Given the description of an element on the screen output the (x, y) to click on. 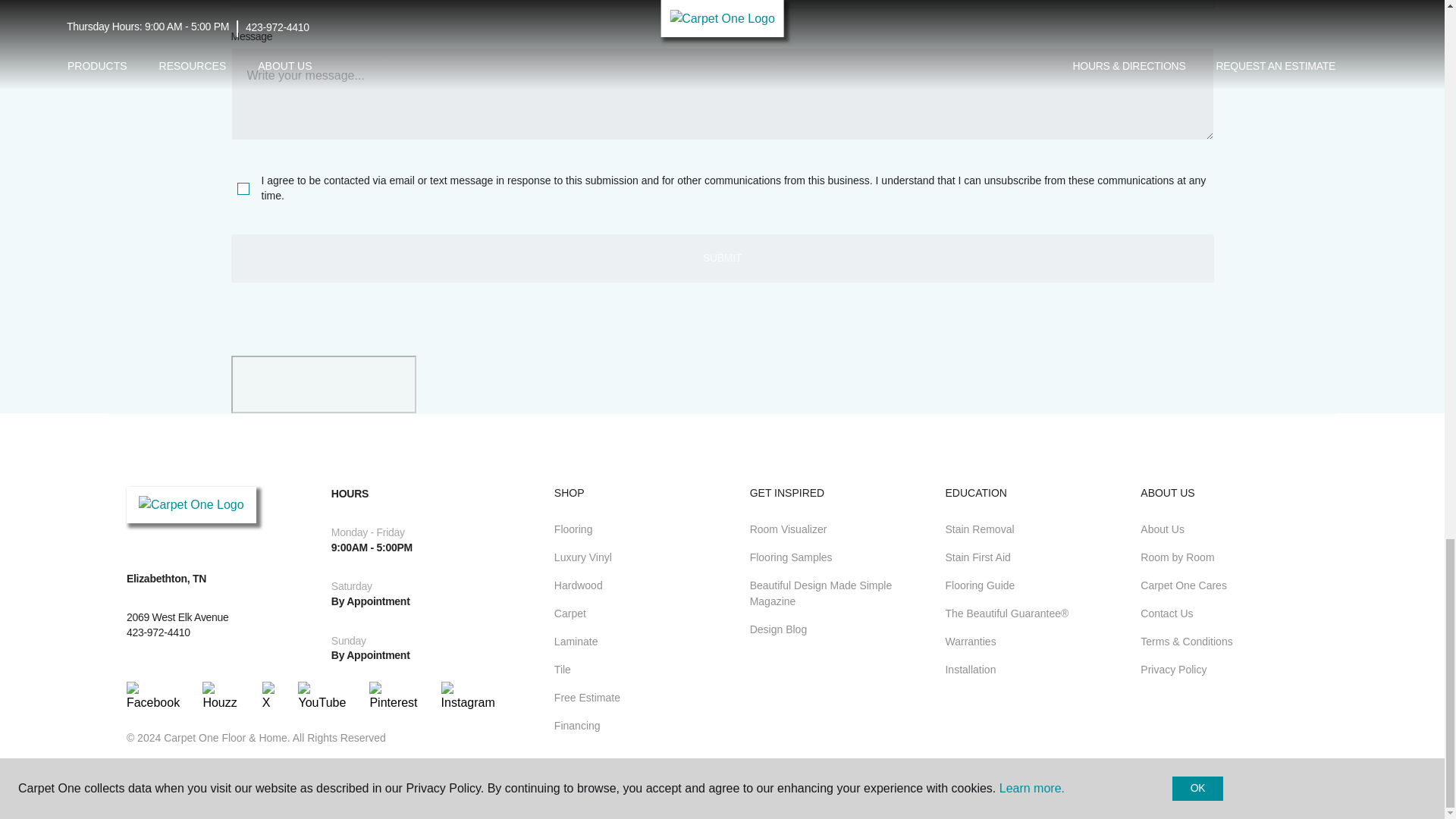
PostalCode (471, 4)
MyMessage (721, 93)
